Given the description of an element on the screen output the (x, y) to click on. 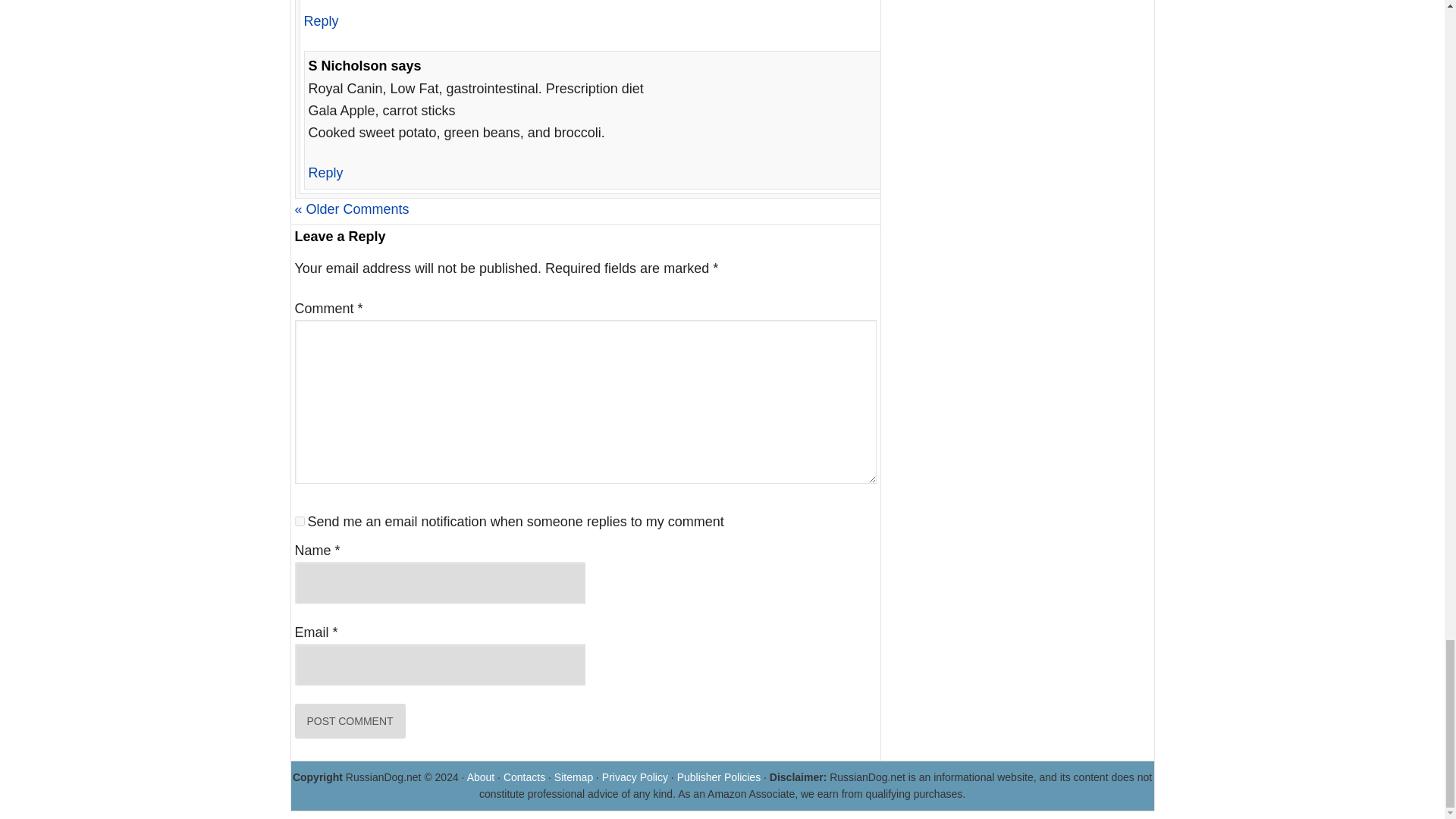
1 (299, 521)
Post Comment (349, 719)
